Given the description of an element on the screen output the (x, y) to click on. 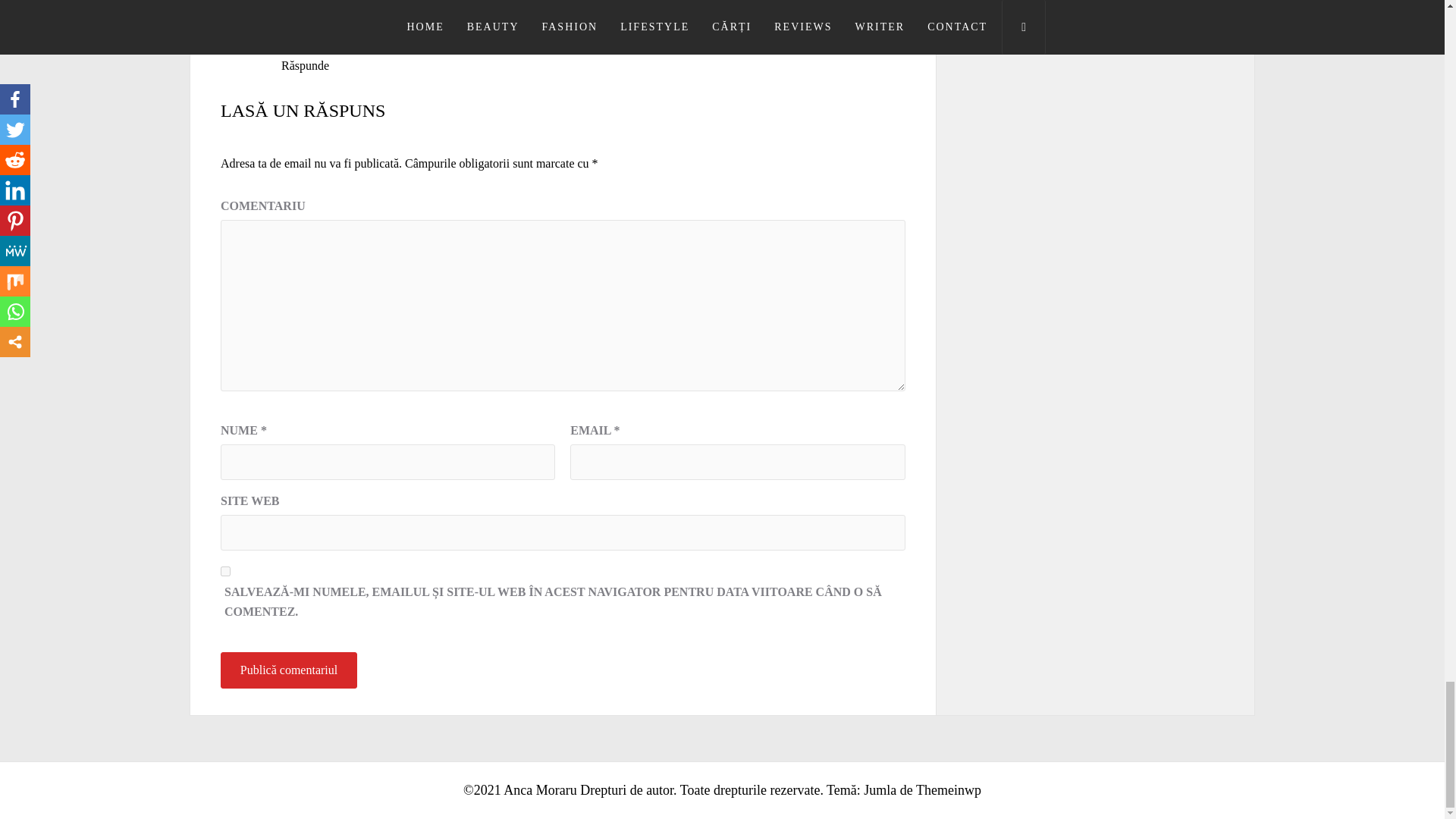
yes (225, 571)
